Given the description of an element on the screen output the (x, y) to click on. 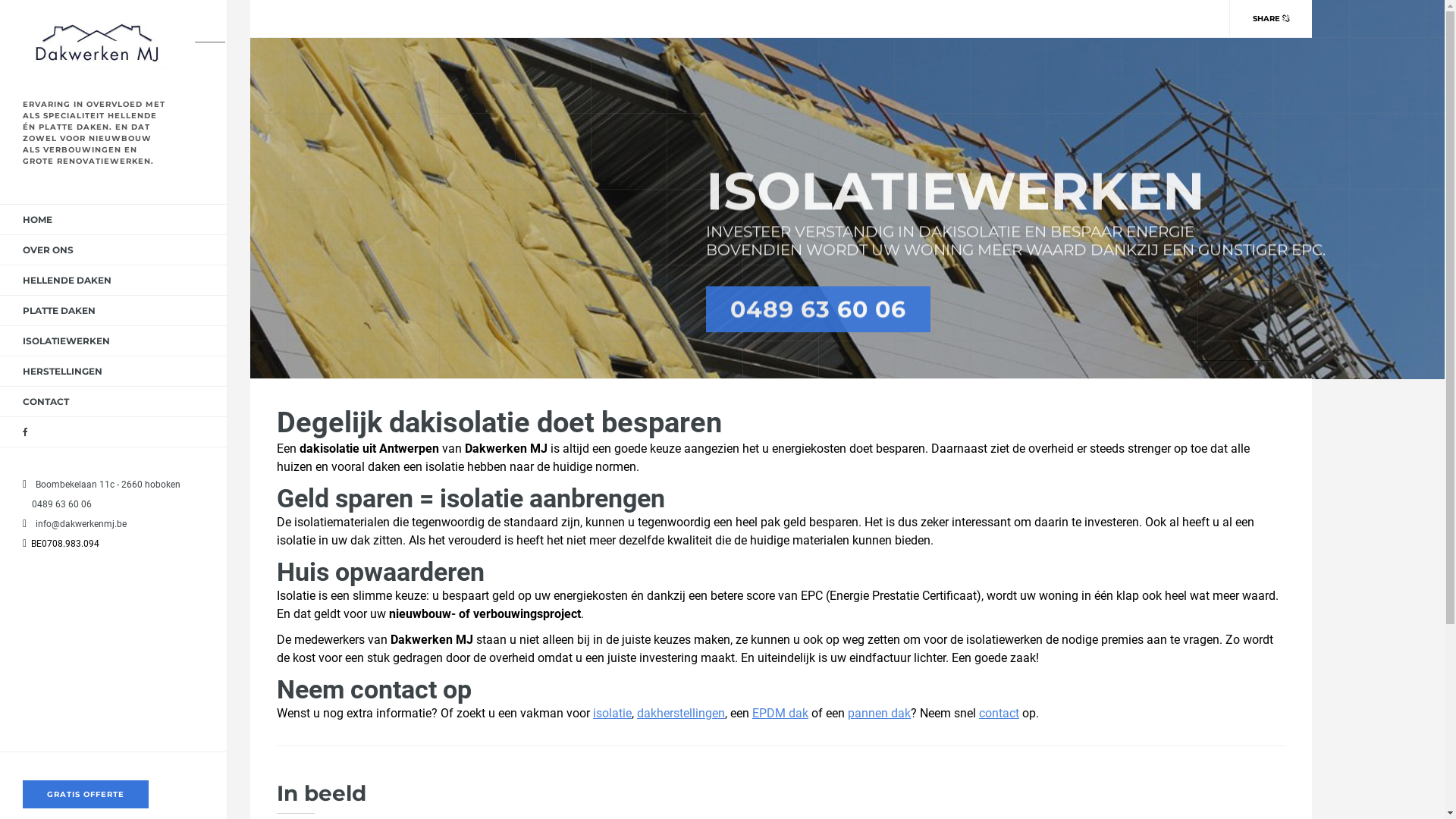
dakherstellingen Element type: text (680, 713)
ISOLATIEWERKEN Element type: text (65, 340)
CONTACT Element type: text (45, 401)
contact Element type: text (999, 713)
OVER ONS Element type: text (47, 249)
0489 63 60 06 Element type: text (817, 308)
info@dakwerkenmj.be Element type: text (77, 523)
HERSTELLINGEN Element type: text (62, 370)
HELLENDE DAKEN Element type: text (66, 279)
isolatie Element type: text (612, 713)
EPDM dak Element type: text (780, 713)
Boombekelaan 11c - 2660 hoboken Element type: text (104, 484)
PLATTE DAKEN Element type: text (58, 310)
GRATIS OFFERTE Element type: text (85, 794)
HOME Element type: text (37, 219)
pannen dak Element type: text (878, 713)
0489 63 60 06 Element type: text (58, 503)
